Given the description of an element on the screen output the (x, y) to click on. 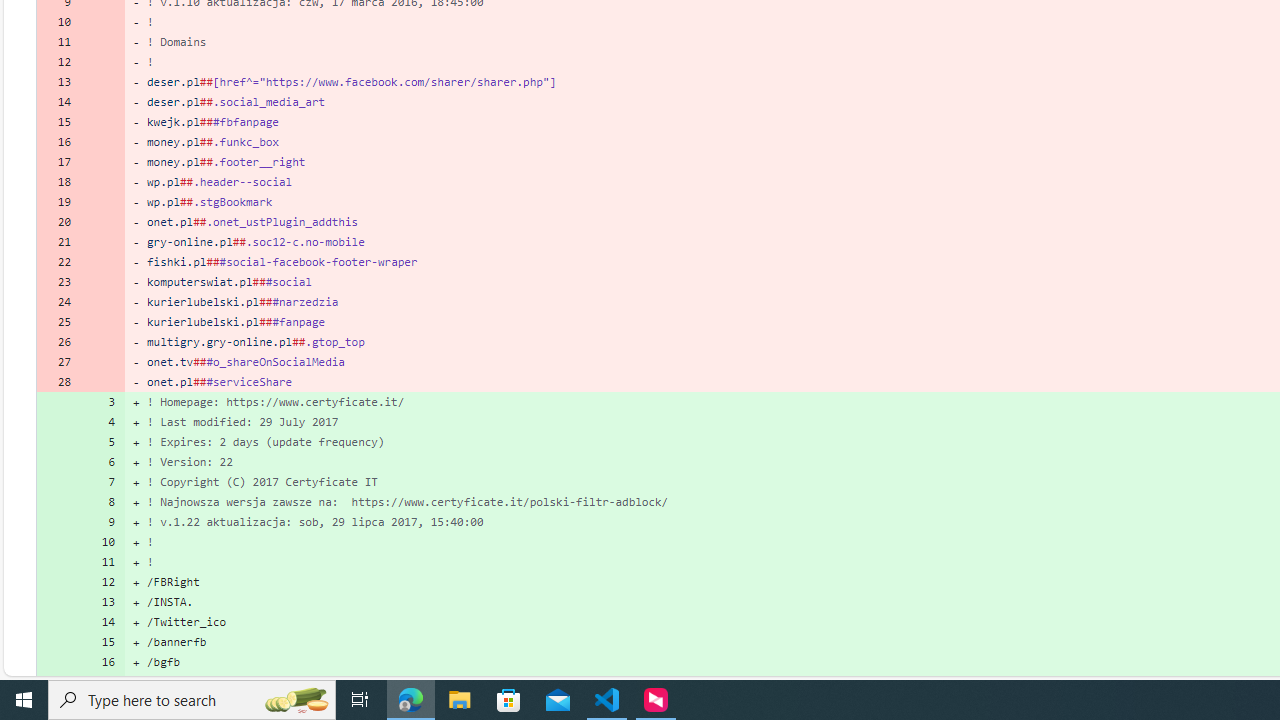
10 (102, 542)
28 (58, 381)
4 (102, 421)
Class: blob-num blob-num-addition empty-cell (58, 681)
23 (58, 282)
27 (58, 362)
12 (102, 581)
5 (102, 442)
Class: blob-num blob-num-deletion empty-cell (102, 381)
21 (58, 241)
14 (102, 622)
11 (102, 561)
15 (102, 642)
7 (102, 481)
22 (58, 261)
